Given the description of an element on the screen output the (x, y) to click on. 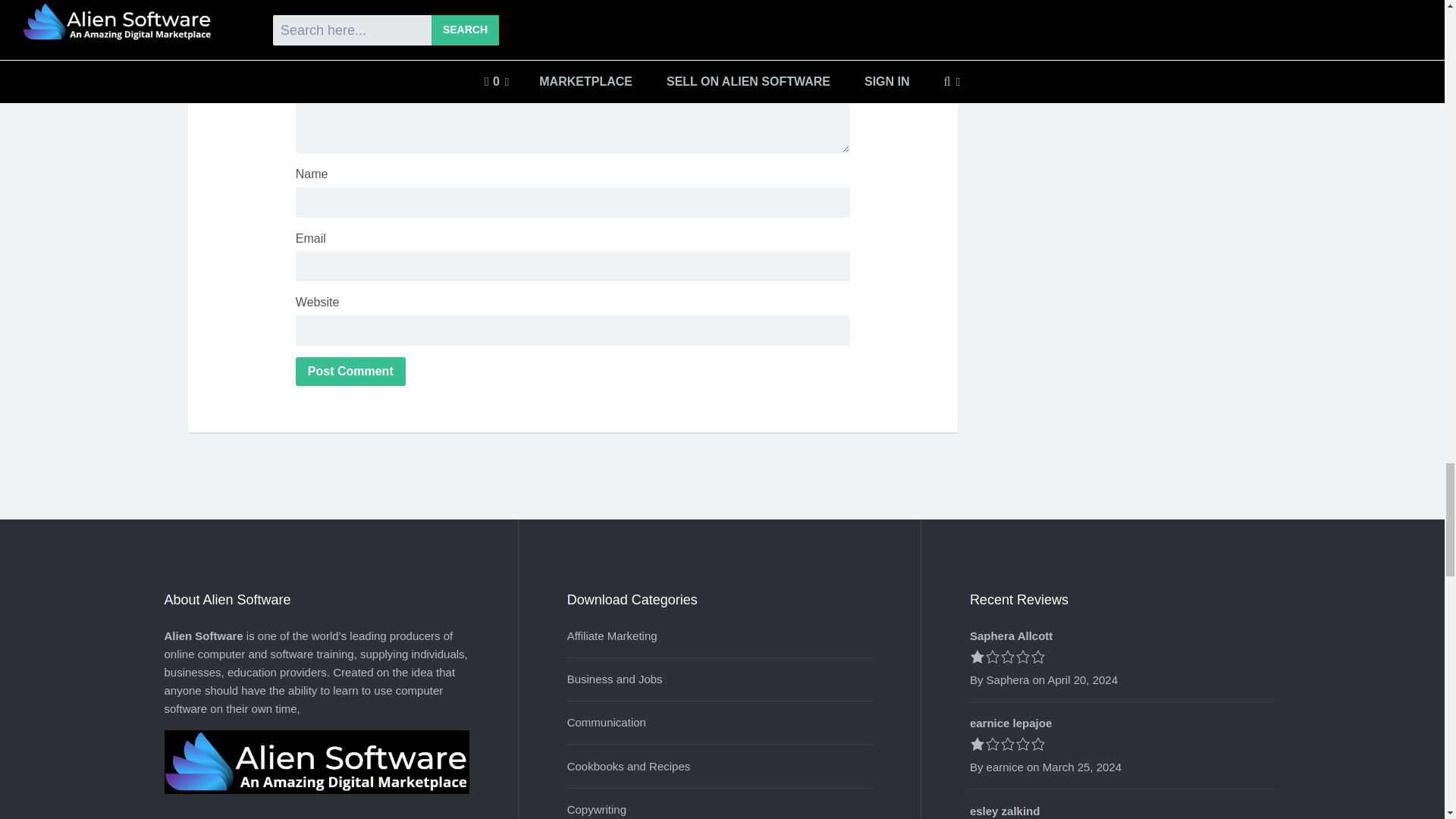
Post Comment (350, 371)
Affiliate Marketing (612, 635)
Cookbooks and Recipes (628, 766)
Business and Jobs (614, 678)
Communication (606, 721)
Post Comment (350, 371)
Copywriting (596, 809)
